Given the description of an element on the screen output the (x, y) to click on. 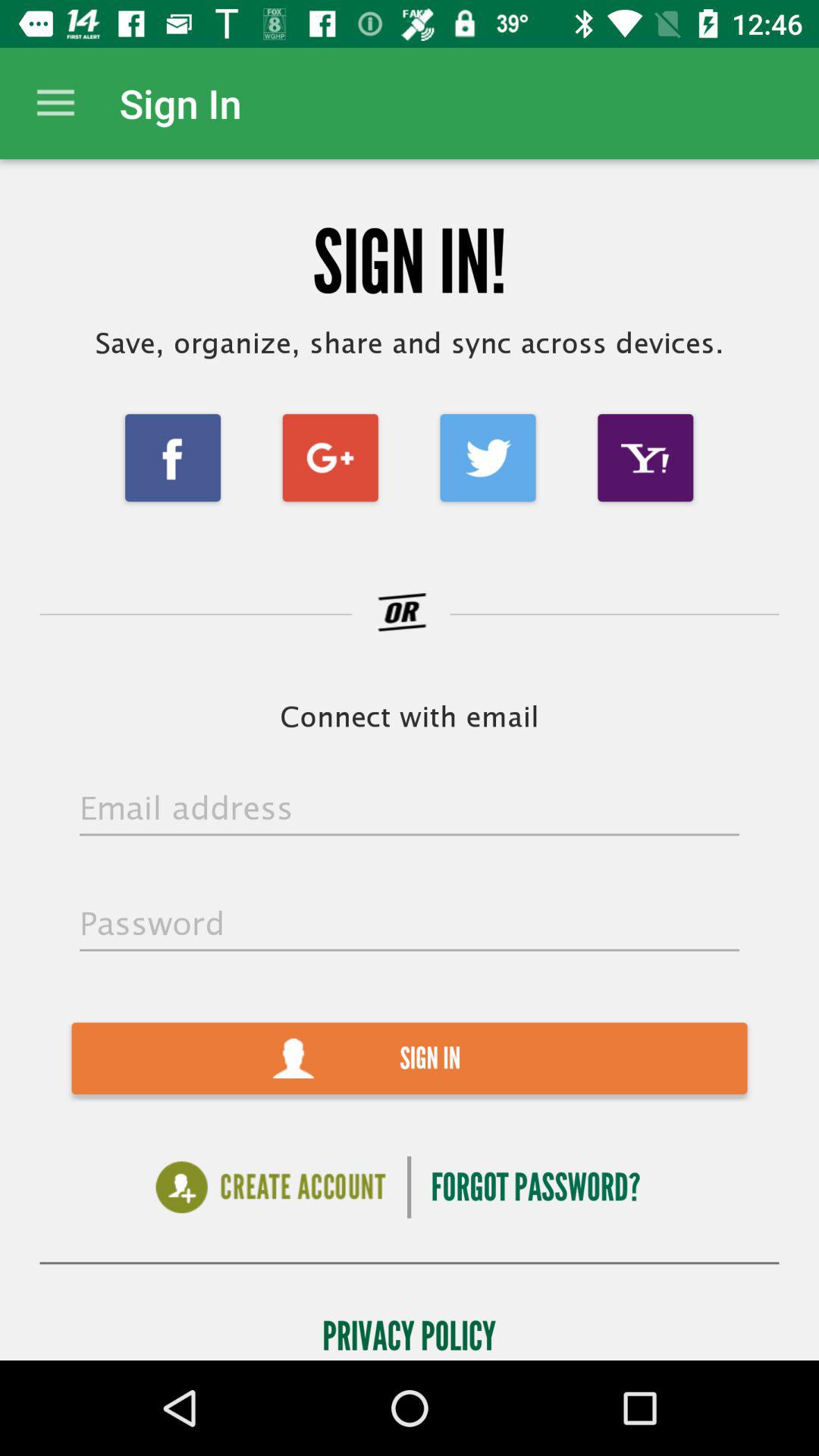
choose item below save organize share item (172, 457)
